Given the description of an element on the screen output the (x, y) to click on. 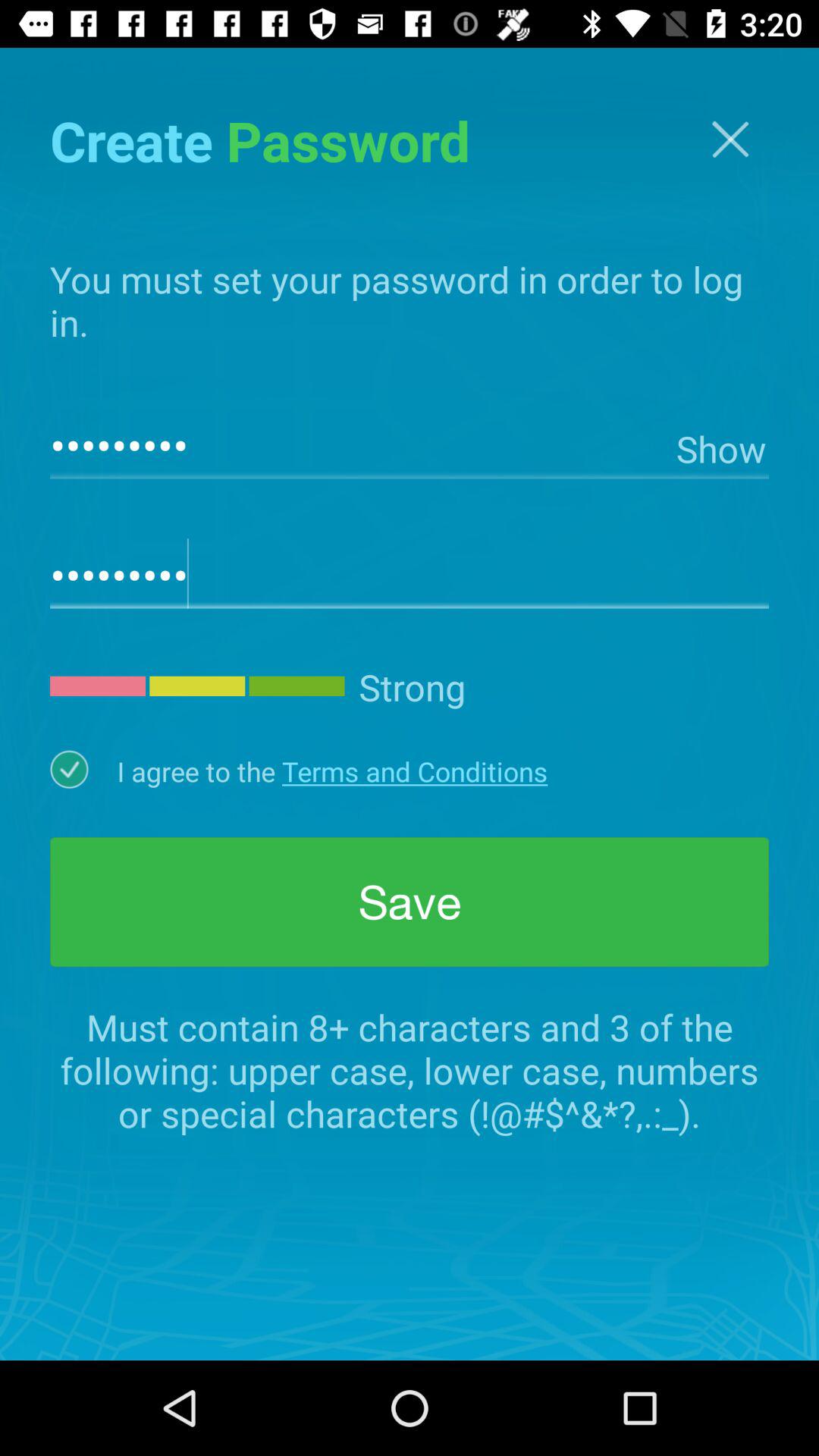
exit (730, 139)
